Given the description of an element on the screen output the (x, y) to click on. 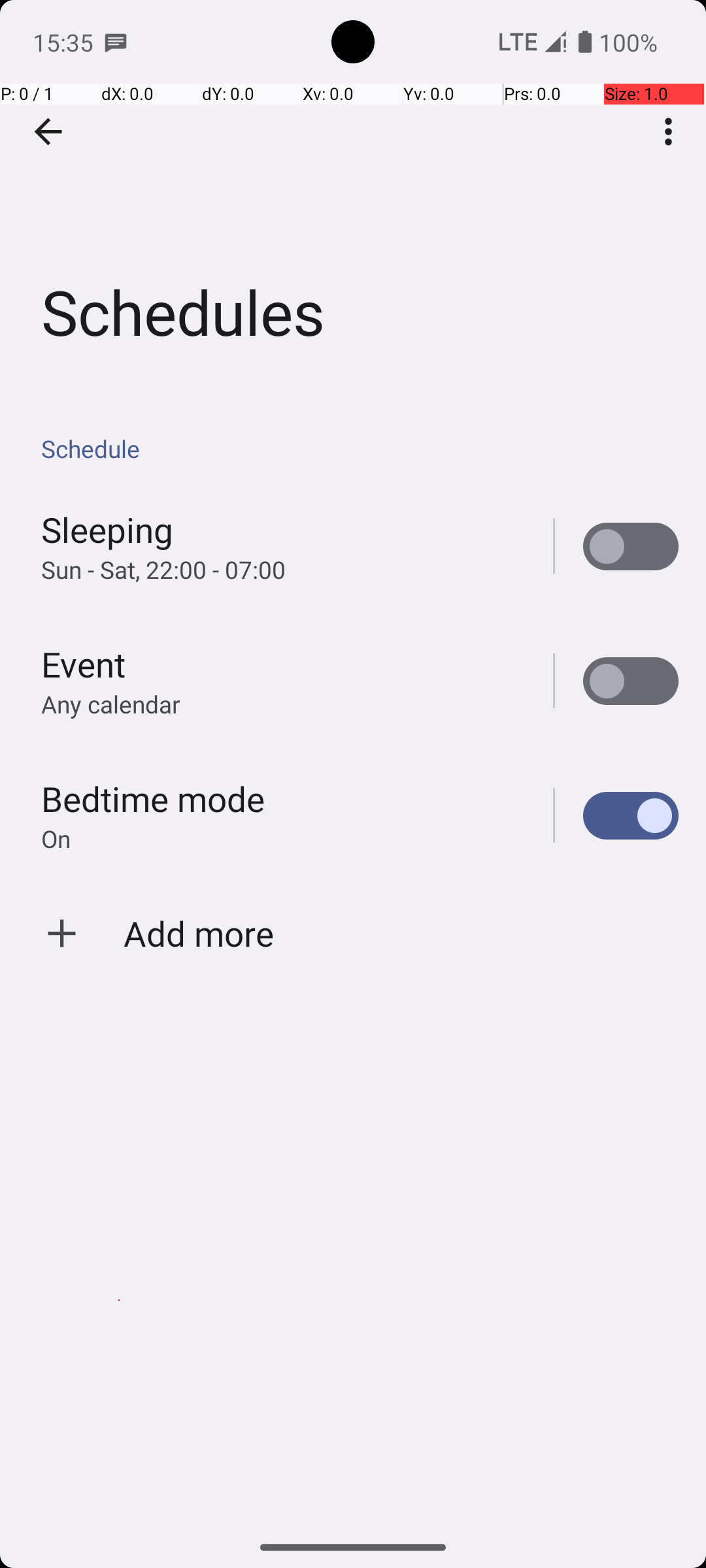
Schedules Element type: android.widget.FrameLayout (353, 195)
Schedule Element type: android.widget.TextView (359, 448)
Sleeping Element type: android.widget.TextView (107, 529)
Sun - Sat, 22:00 - 07:00 Element type: android.widget.TextView (163, 569)
Any calendar Element type: android.widget.TextView (110, 703)
Bedtime mode Element type: android.widget.TextView (152, 798)
Add more Element type: android.widget.TextView (198, 933)
